Given the description of an element on the screen output the (x, y) to click on. 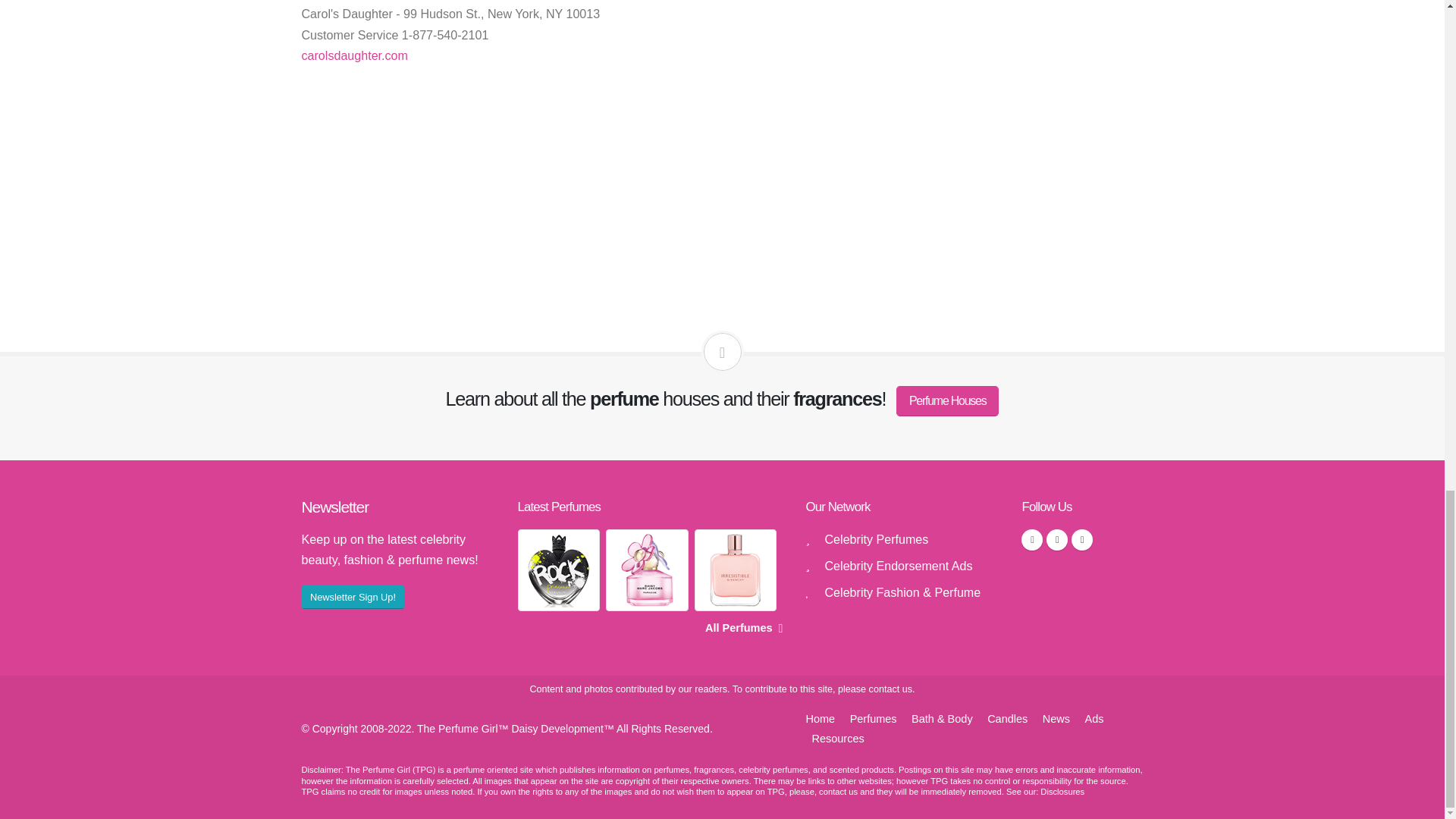
carolsdaughter.com (354, 55)
Twitter (1056, 539)
Pinterest (1082, 539)
Facebook (1032, 539)
